Given the description of an element on the screen output the (x, y) to click on. 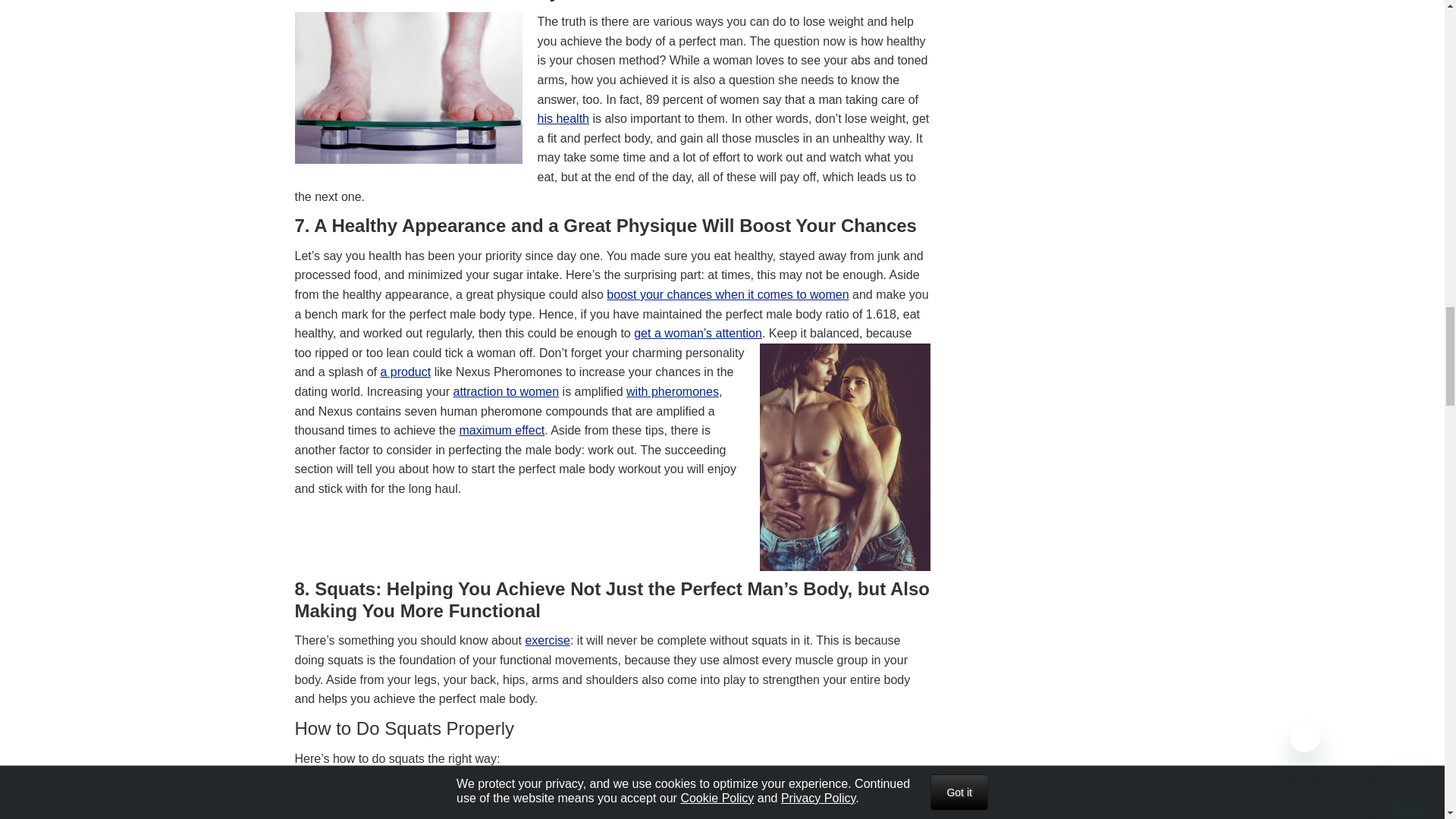
maximum effect (502, 430)
with pheromones (672, 391)
a product (405, 371)
exercise (547, 640)
attraction to women (505, 391)
his health (563, 118)
boost your chances when it comes to women (727, 294)
